Given the description of an element on the screen output the (x, y) to click on. 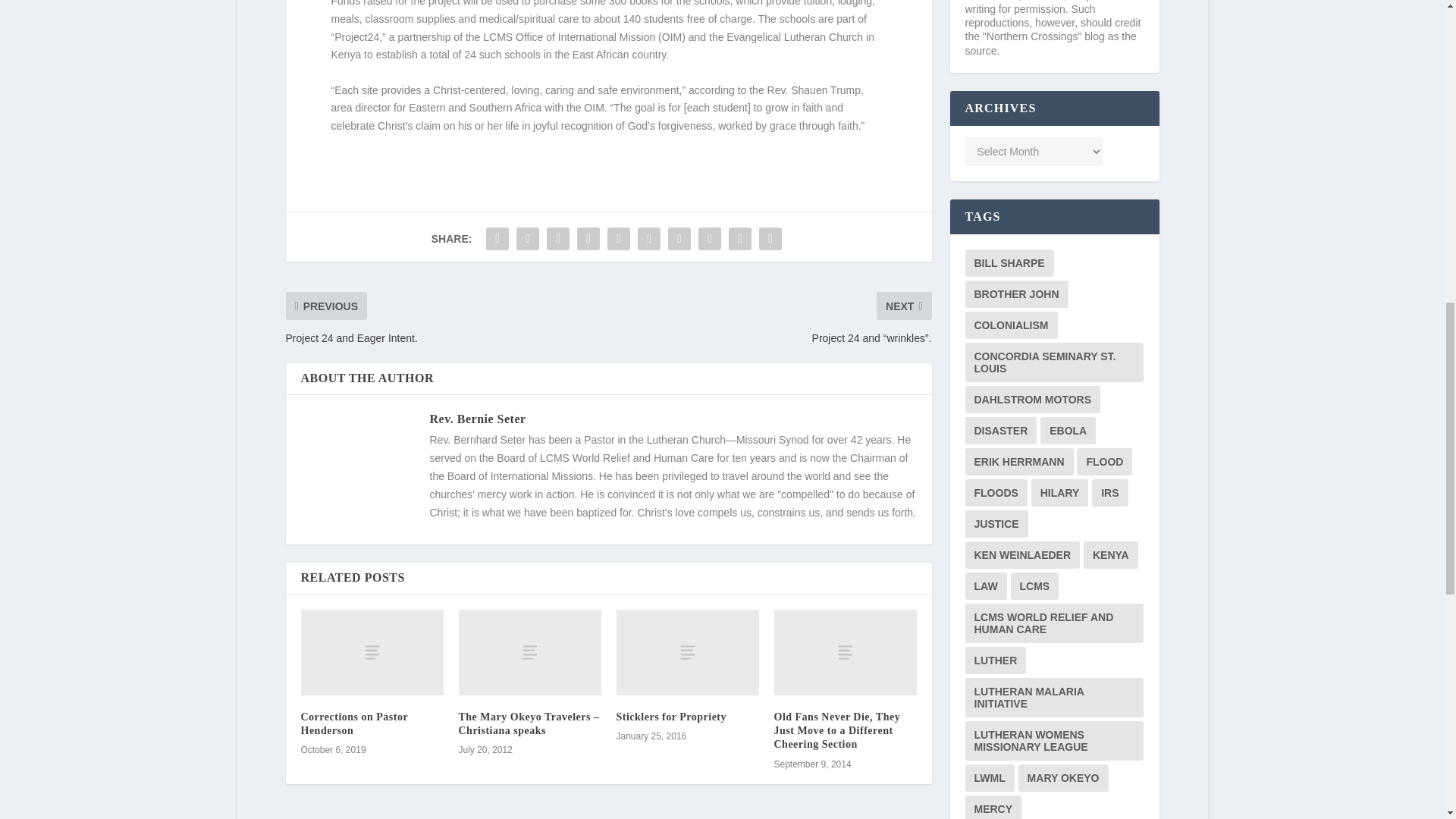
Rev. Bernie Seter (477, 418)
Corrections on Pastor Henderson (353, 723)
Corrections on Pastor Henderson (370, 652)
View all posts by Rev. Bernie Seter (477, 418)
Sticklers for Propriety (686, 652)
Sticklers for Propriety (670, 716)
